Given the description of an element on the screen output the (x, y) to click on. 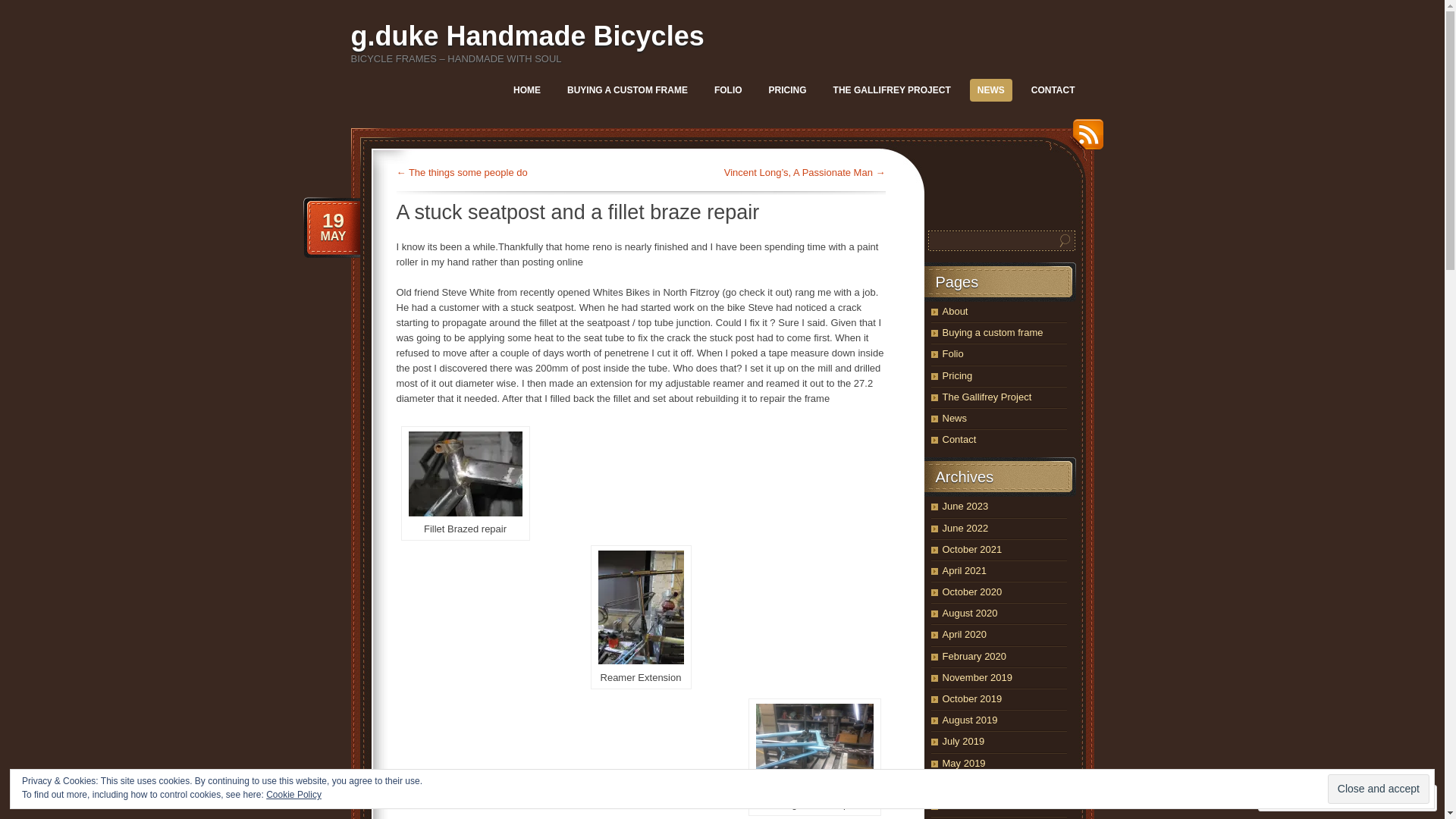
THE GALLIFREY PROJECT Element type: text (891, 89)
April 2019 Element type: text (963, 784)
April 2020 Element type: text (963, 634)
May 2019 Element type: text (963, 762)
The Gallifrey Project Element type: text (986, 396)
Buying a custom frame Element type: text (991, 332)
August 2019 Element type: text (969, 719)
PRICING Element type: text (787, 89)
Close and accept Element type: text (1378, 788)
Folio Element type: text (952, 353)
October 2021 Element type: text (971, 549)
News Element type: text (953, 417)
Pricing Element type: text (956, 375)
HOME Element type: text (526, 89)
November 2019 Element type: text (976, 677)
BUYING A CUSTOM FRAME Element type: text (627, 89)
August 2020 Element type: text (969, 612)
CONTACT Element type: text (1052, 89)
FOLIO Element type: text (727, 89)
Contact Element type: text (958, 439)
g.duke Handmade Bicycles Element type: text (526, 35)
October 2020 Element type: text (971, 591)
Comment Element type: text (1299, 797)
Follow Element type: text (1374, 797)
April 2021 Element type: text (963, 570)
February 2020 Element type: text (973, 656)
March 2019 Element type: text (967, 805)
June 2023 Element type: text (964, 505)
NEWS Element type: text (990, 89)
Search Element type: text (1064, 240)
June 2022 Element type: text (964, 527)
About Element type: text (954, 310)
Cookie Policy Element type: text (293, 794)
RSS Element type: text (1083, 139)
July 2019 Element type: text (962, 740)
October 2019 Element type: text (971, 698)
